Given the description of an element on the screen output the (x, y) to click on. 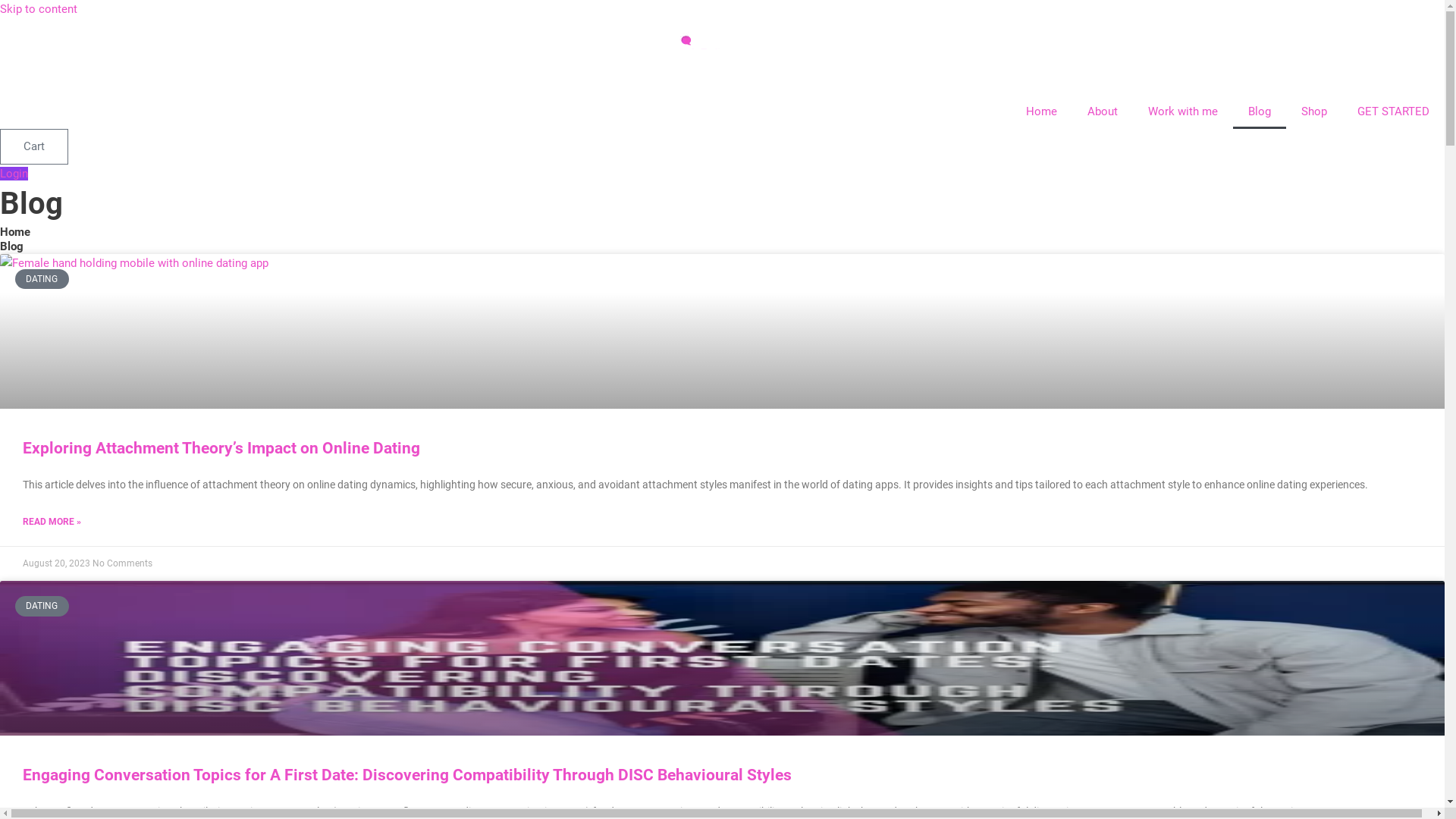
About Element type: text (1102, 111)
GET STARTED Element type: text (1393, 111)
Blog Element type: text (1259, 111)
Cart Element type: text (34, 146)
Login Element type: text (14, 173)
Home Element type: text (1041, 111)
Home Element type: text (15, 231)
Work with me Element type: text (1182, 111)
Shop Element type: text (1314, 111)
Skip to content Element type: text (38, 8)
